Given the description of an element on the screen output the (x, y) to click on. 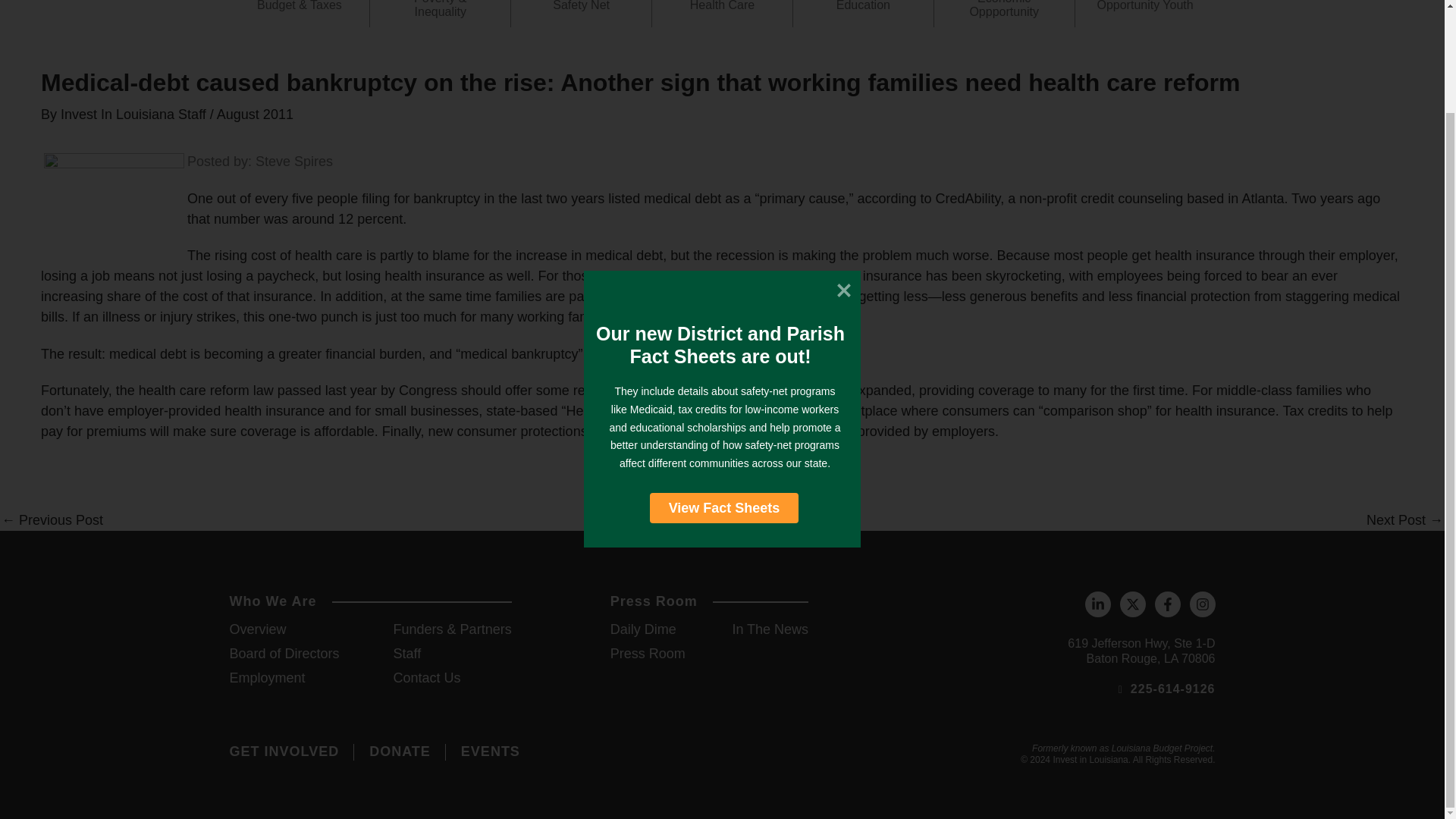
Safety Net (580, 9)
View all posts by Invest In Louisiana Staff (135, 114)
Health Care (721, 9)
In the News: "Louisiana lets payday loans flourish" (52, 520)
Education (863, 9)
Who Benefits When State Sells Group Benefits Office (1404, 520)
Help for Medical (113, 204)
Economic Oppportunity (1004, 9)
Opportunity Youth (1145, 9)
